Given the description of an element on the screen output the (x, y) to click on. 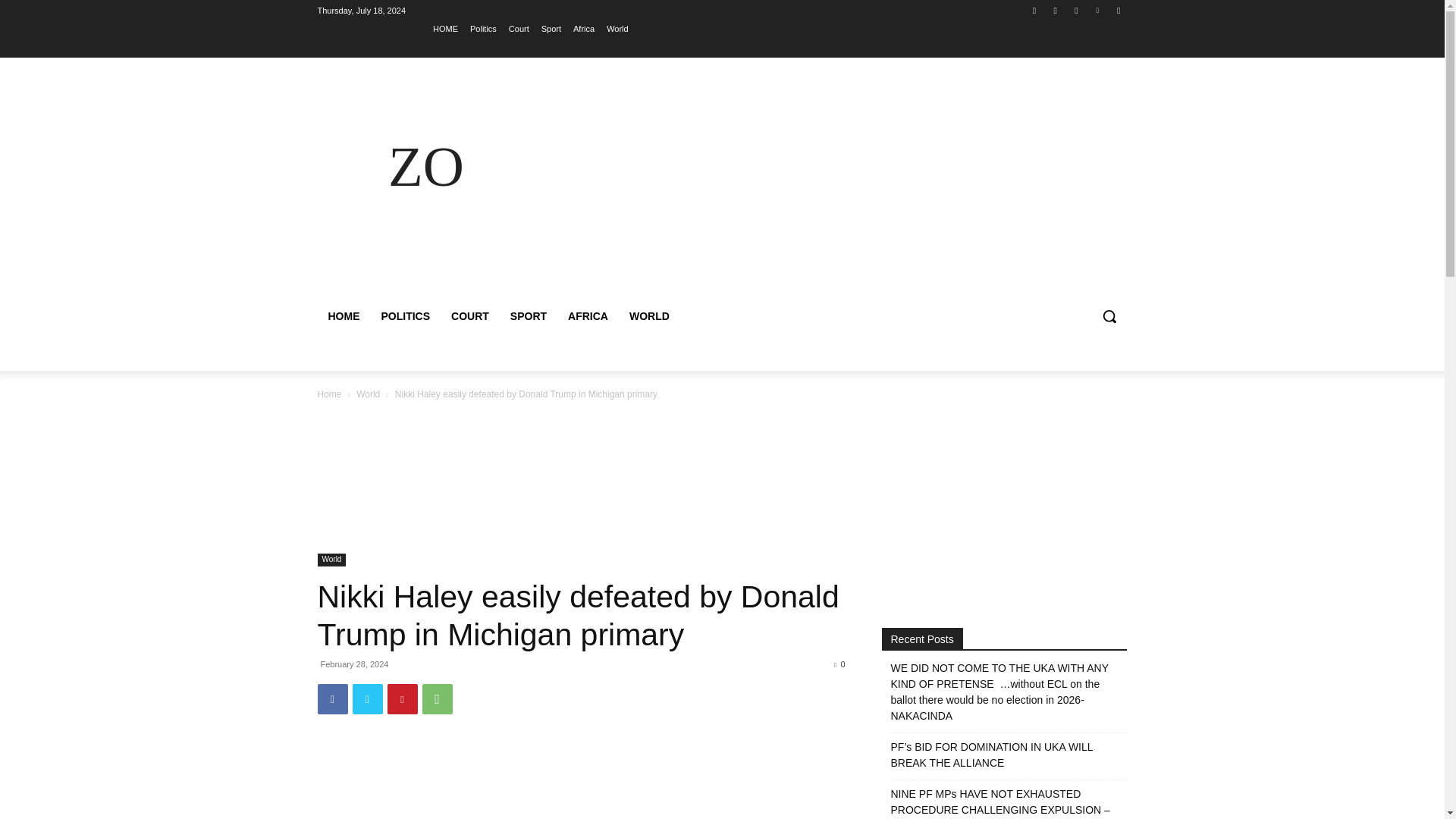
View all posts in World (368, 394)
Court (518, 28)
Sport (550, 28)
Twitter (1075, 9)
Youtube (1117, 9)
Home (328, 394)
0 (839, 664)
Advertisement (854, 184)
WORLD (648, 316)
Instagram (1055, 9)
Africa (583, 28)
HOME (445, 28)
AFRICA (587, 316)
Politics (483, 28)
